Given the description of an element on the screen output the (x, y) to click on. 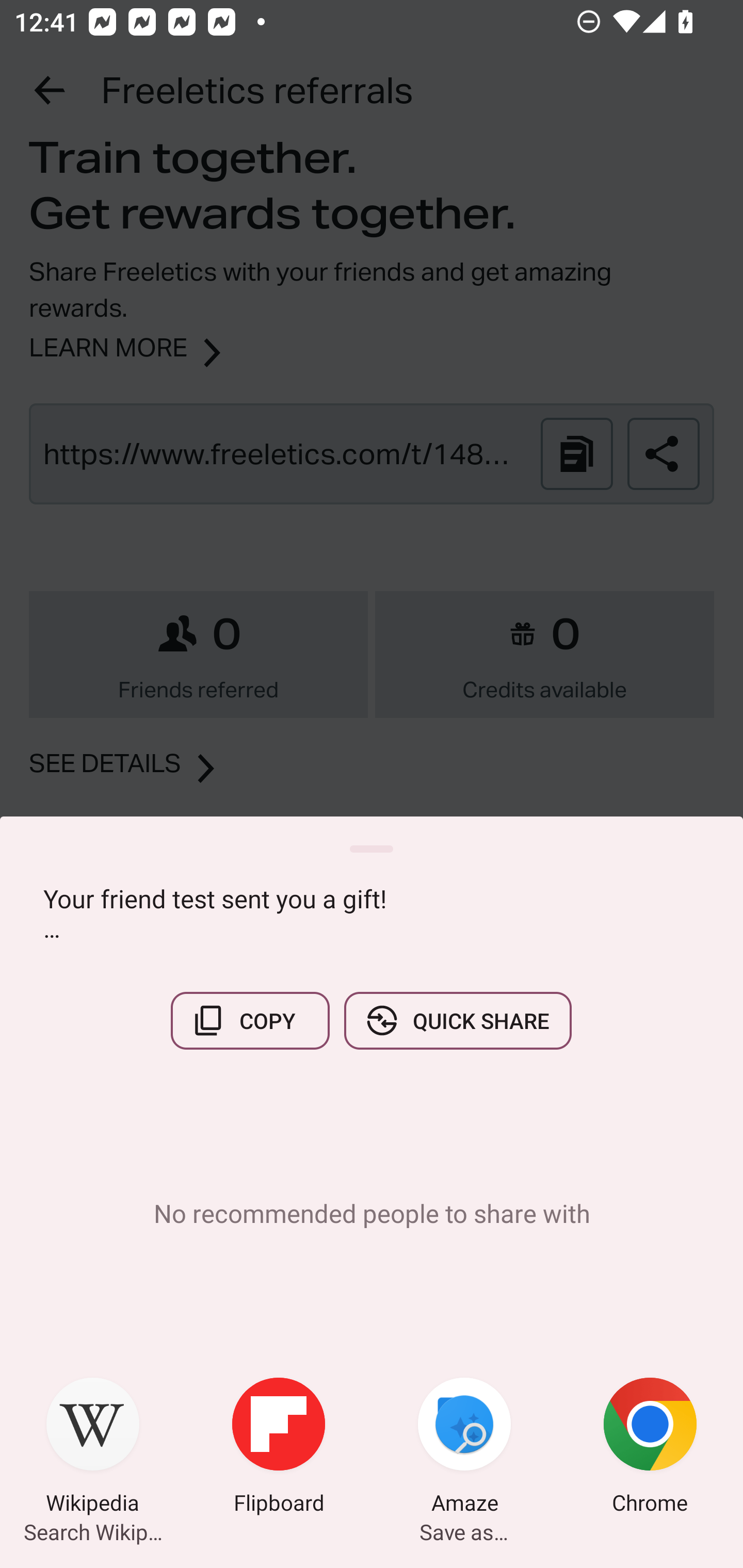
COPY (249, 1020)
QUICK SHARE (457, 1020)
Wikipedia Search Wikipedia (92, 1448)
Flipboard (278, 1448)
Amaze Save as… (464, 1448)
Chrome (650, 1448)
